Given the description of an element on the screen output the (x, y) to click on. 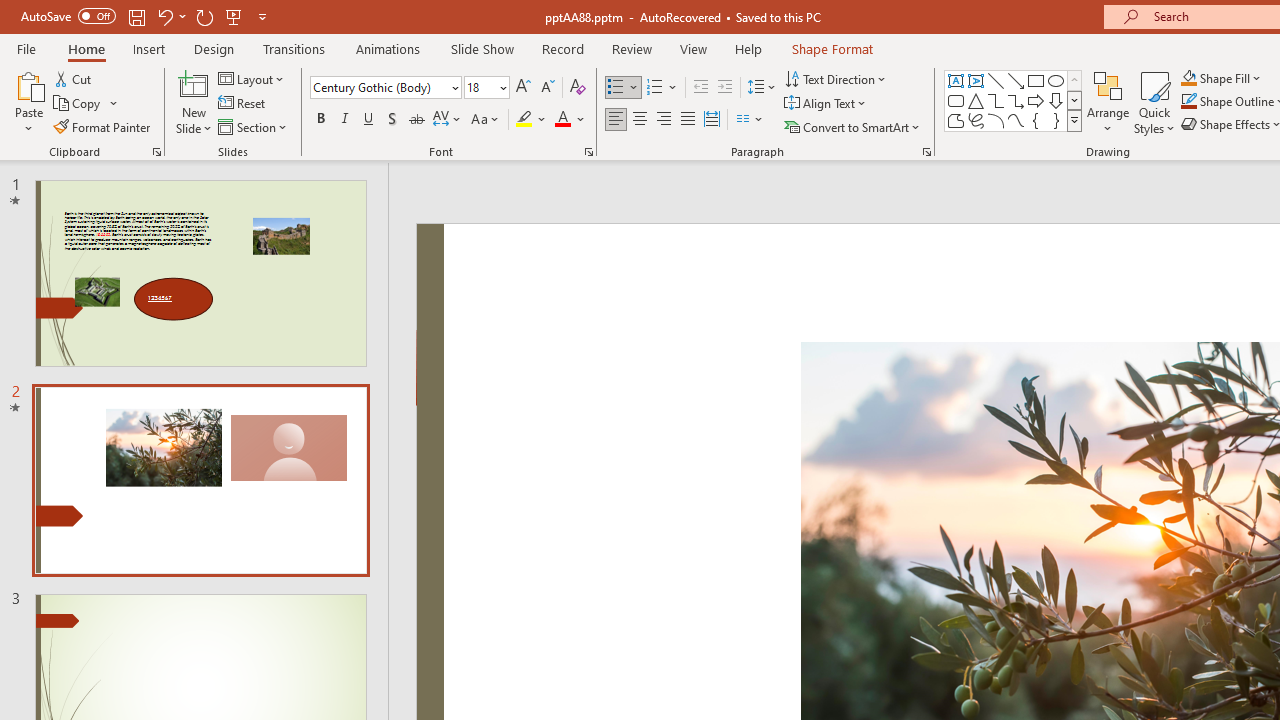
Curve (1016, 120)
Font (379, 87)
Increase Indent (725, 87)
Align Left (616, 119)
Text Direction (836, 78)
New Slide (193, 102)
Copy (85, 103)
Connector: Elbow Arrow (1016, 100)
Shapes (1074, 120)
Paragraph... (926, 151)
